Given the description of an element on the screen output the (x, y) to click on. 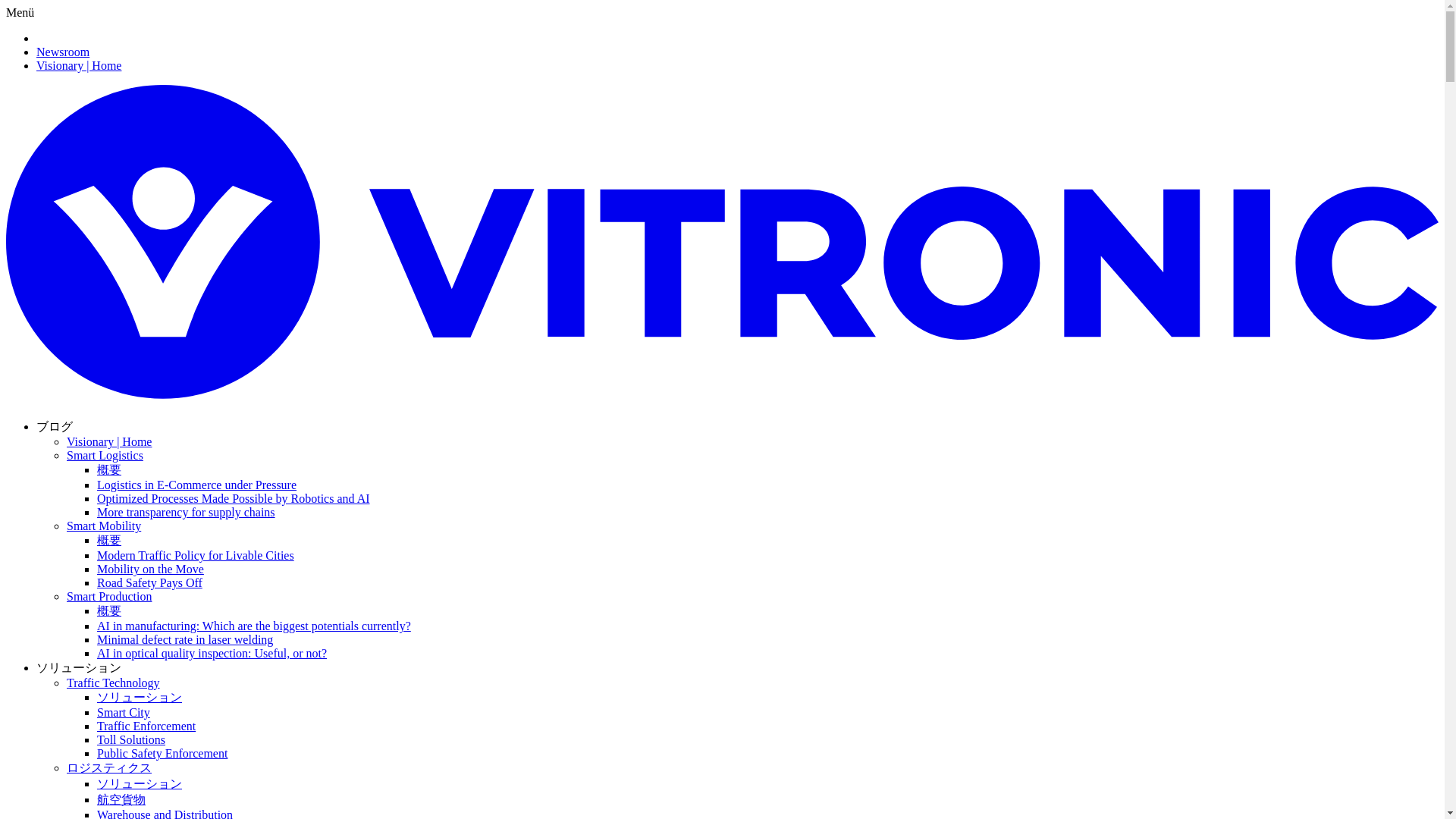
More transparency for supply chains (186, 512)
Traffic Technology (113, 682)
Optimized Processes Made Possible by Robotics and AI (233, 498)
Minimal defect rate in laser welding (185, 639)
Traffic Enforcement (146, 725)
Logistics in E-Commerce under Pressure (197, 484)
Mobility on the Move (150, 568)
Warehouse and Distribution (164, 813)
Road Safety Pays Off (149, 582)
AI in optical quality inspection: Useful, or not? (211, 653)
